Given the description of an element on the screen output the (x, y) to click on. 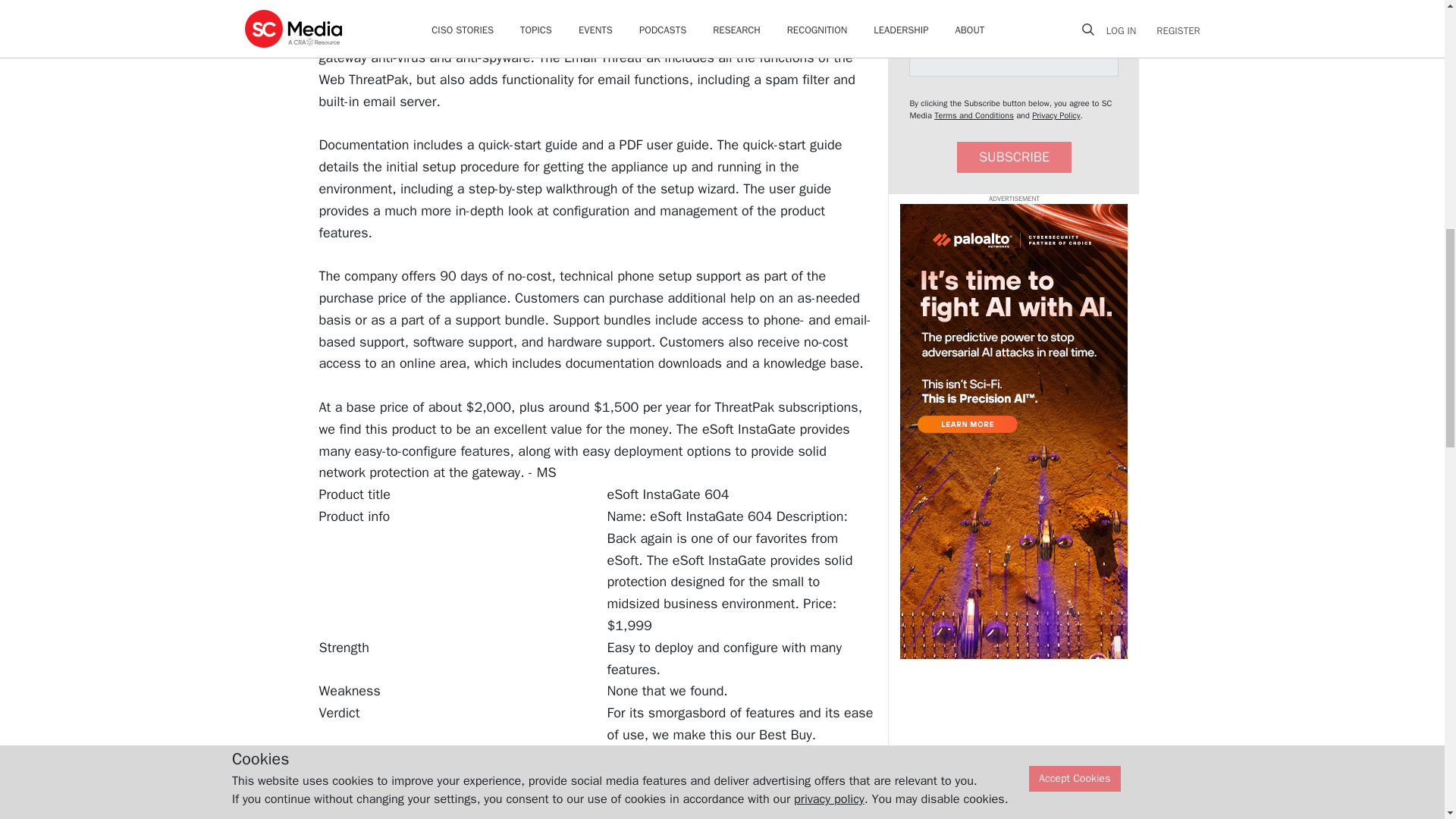
SUBSCRIBE (1013, 156)
Terms and Conditions (973, 114)
Privacy Policy (1056, 114)
SC Staff (407, 786)
